Given the description of an element on the screen output the (x, y) to click on. 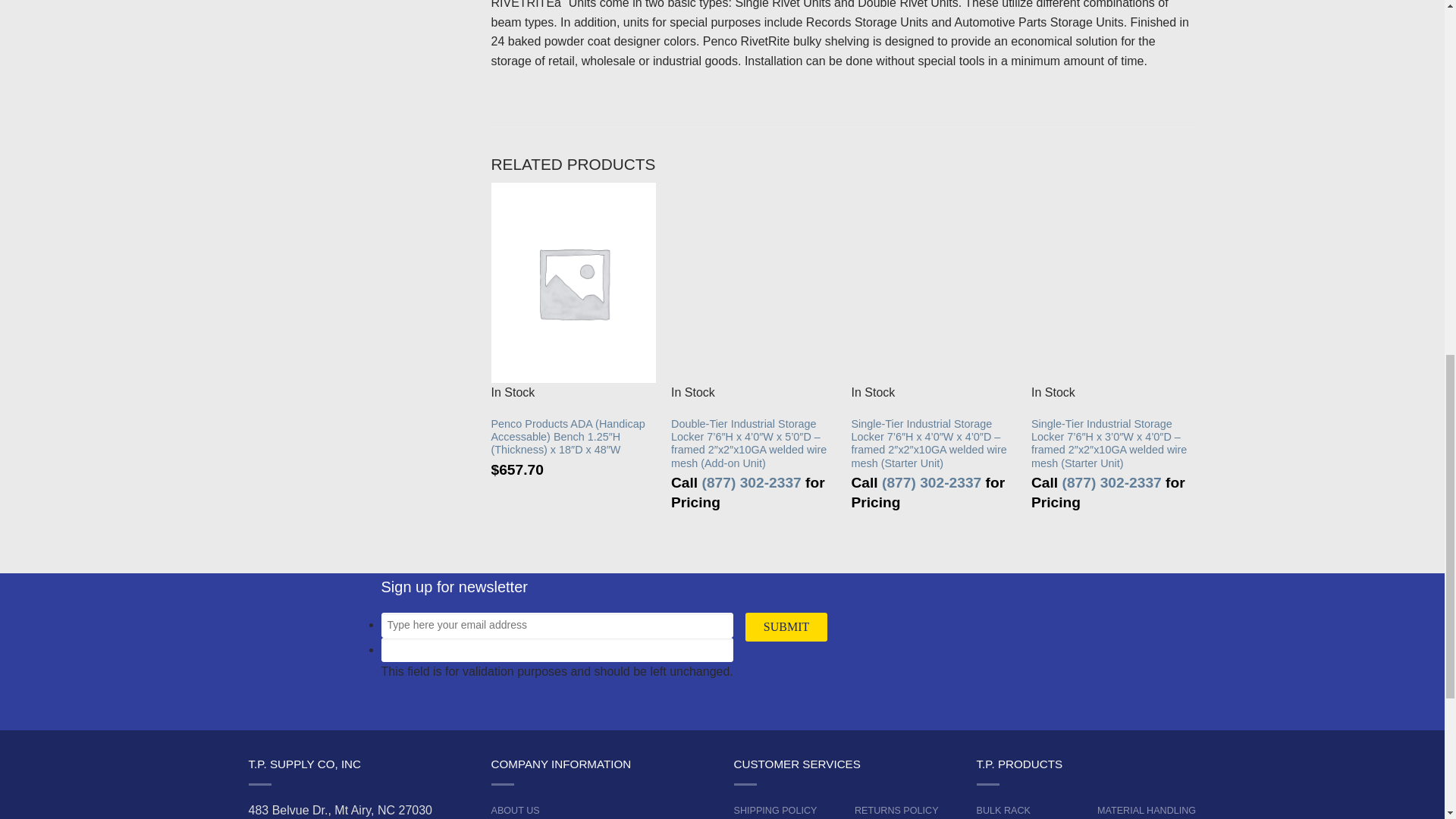
Submit (786, 626)
